Given the description of an element on the screen output the (x, y) to click on. 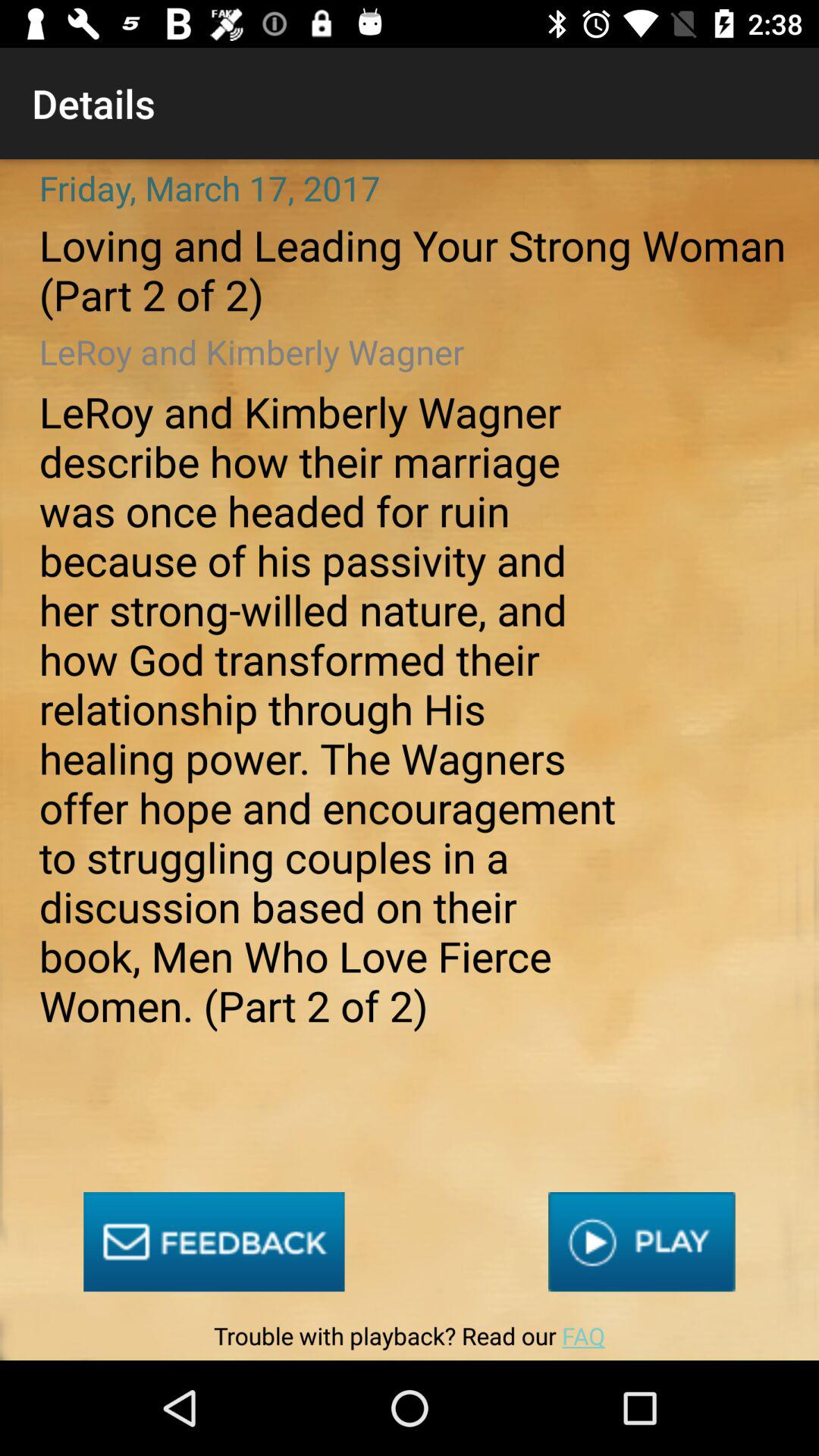
select trouble with playback item (409, 1339)
